Given the description of an element on the screen output the (x, y) to click on. 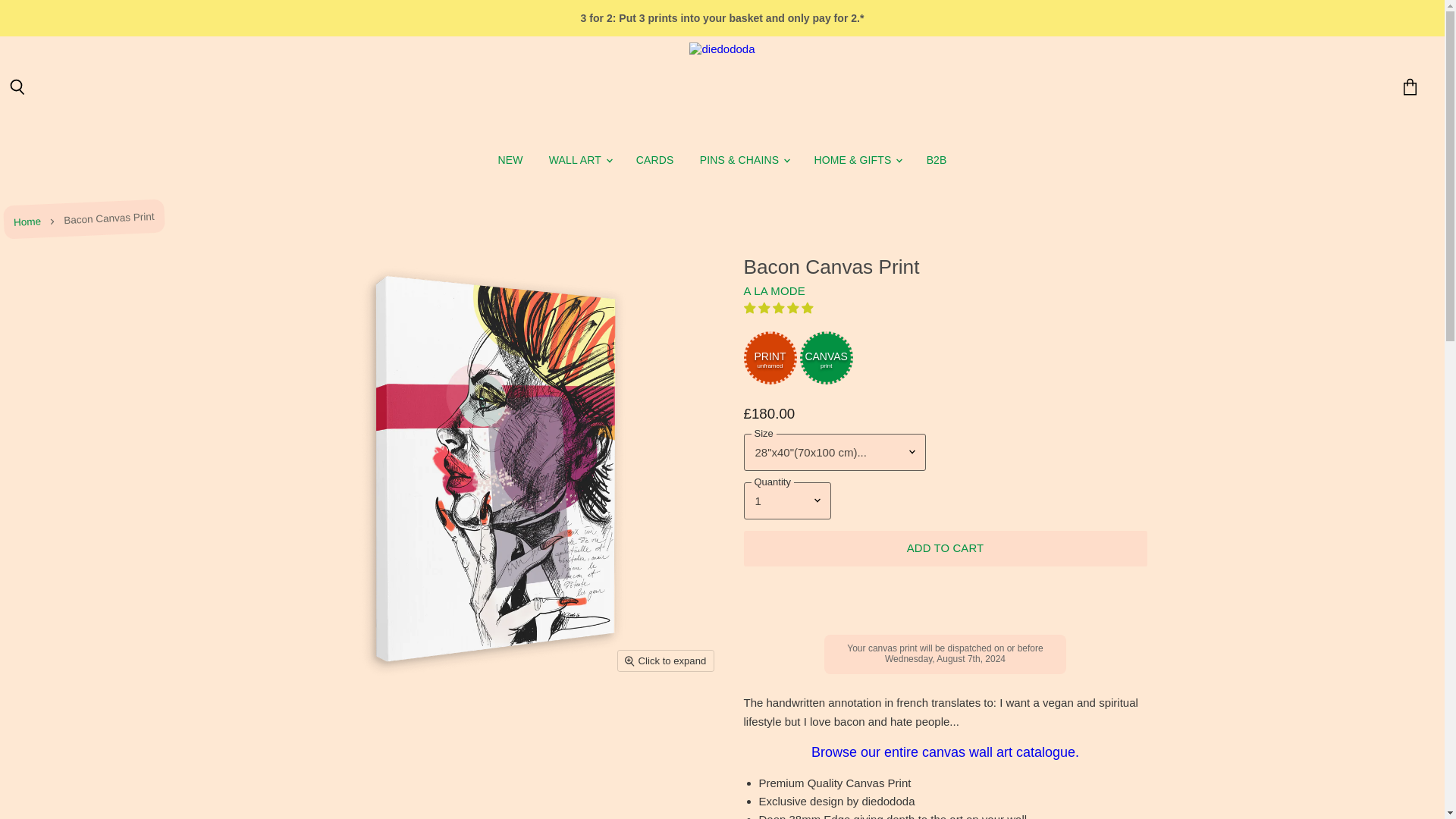
CARDS (654, 160)
Search (17, 87)
NEW (510, 160)
WALL ART (579, 160)
